Given the description of an element on the screen output the (x, y) to click on. 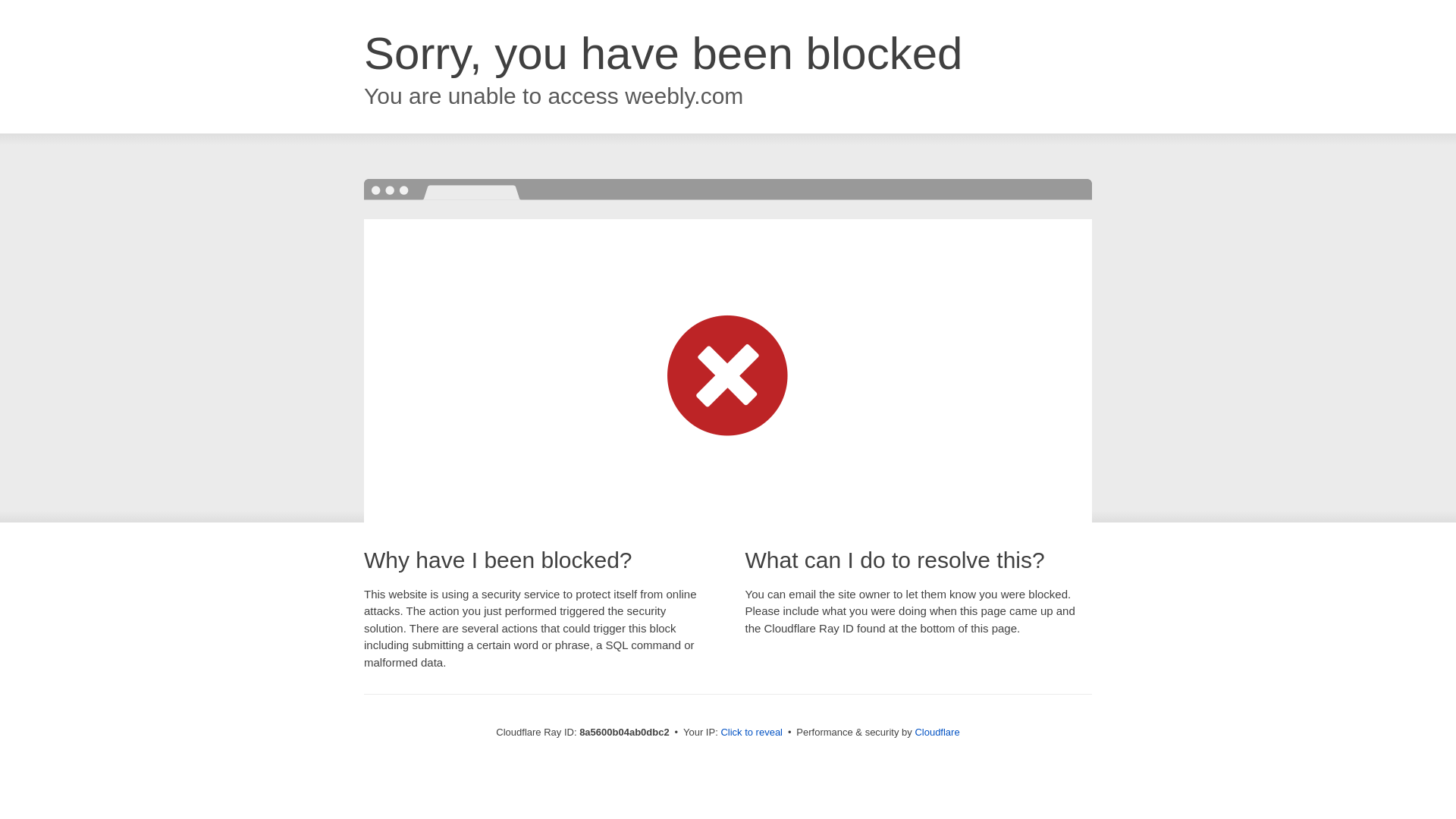
Cloudflare (936, 731)
Click to reveal (751, 732)
